Given the description of an element on the screen output the (x, y) to click on. 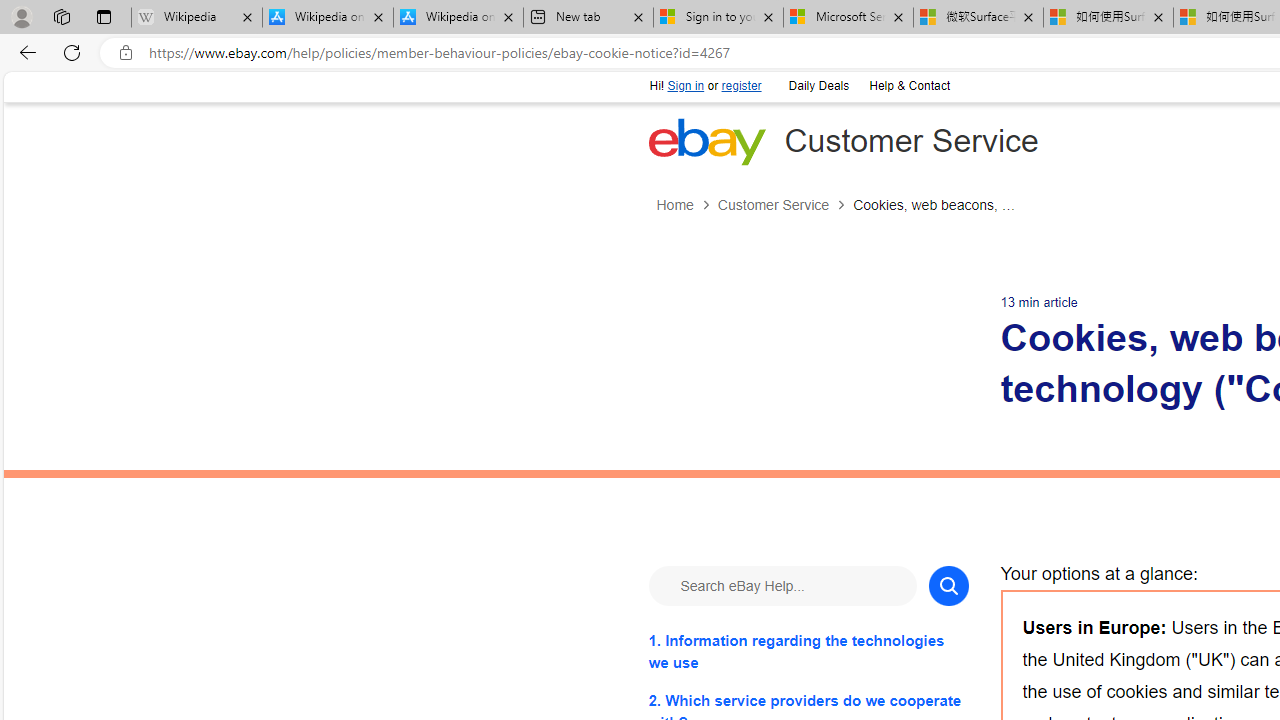
eBay Home (706, 141)
Wikipedia - Sleeping (196, 17)
Sign in (685, 85)
Daily Deals (817, 84)
eBay Home (706, 141)
Daily Deals (818, 86)
register (740, 85)
